Given the description of an element on the screen output the (x, y) to click on. 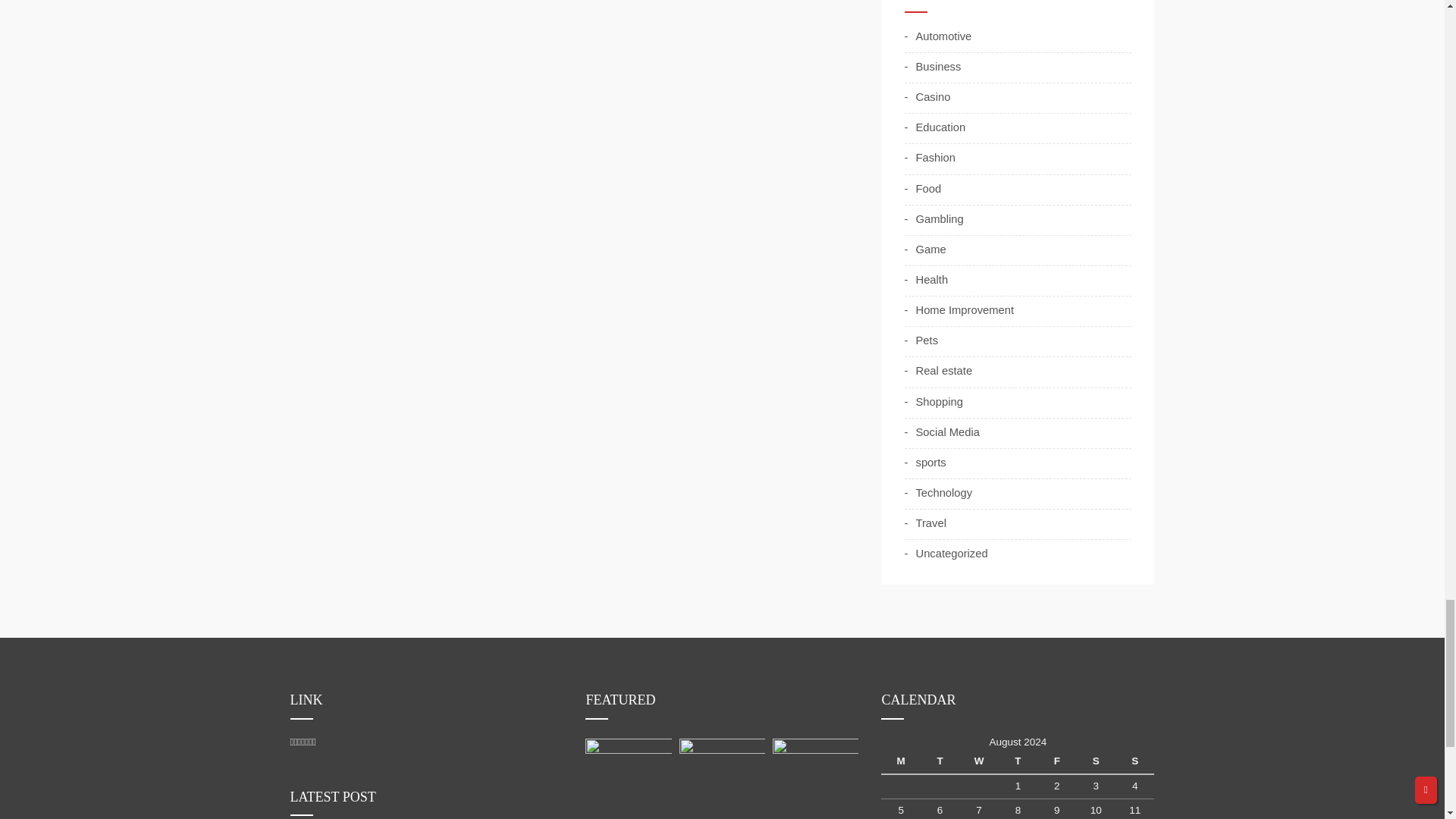
Wednesday (978, 761)
Thursday (1017, 761)
Tuesday (939, 761)
Monday (900, 761)
Sunday (1134, 761)
Friday (1055, 761)
Saturday (1096, 761)
